Given the description of an element on the screen output the (x, y) to click on. 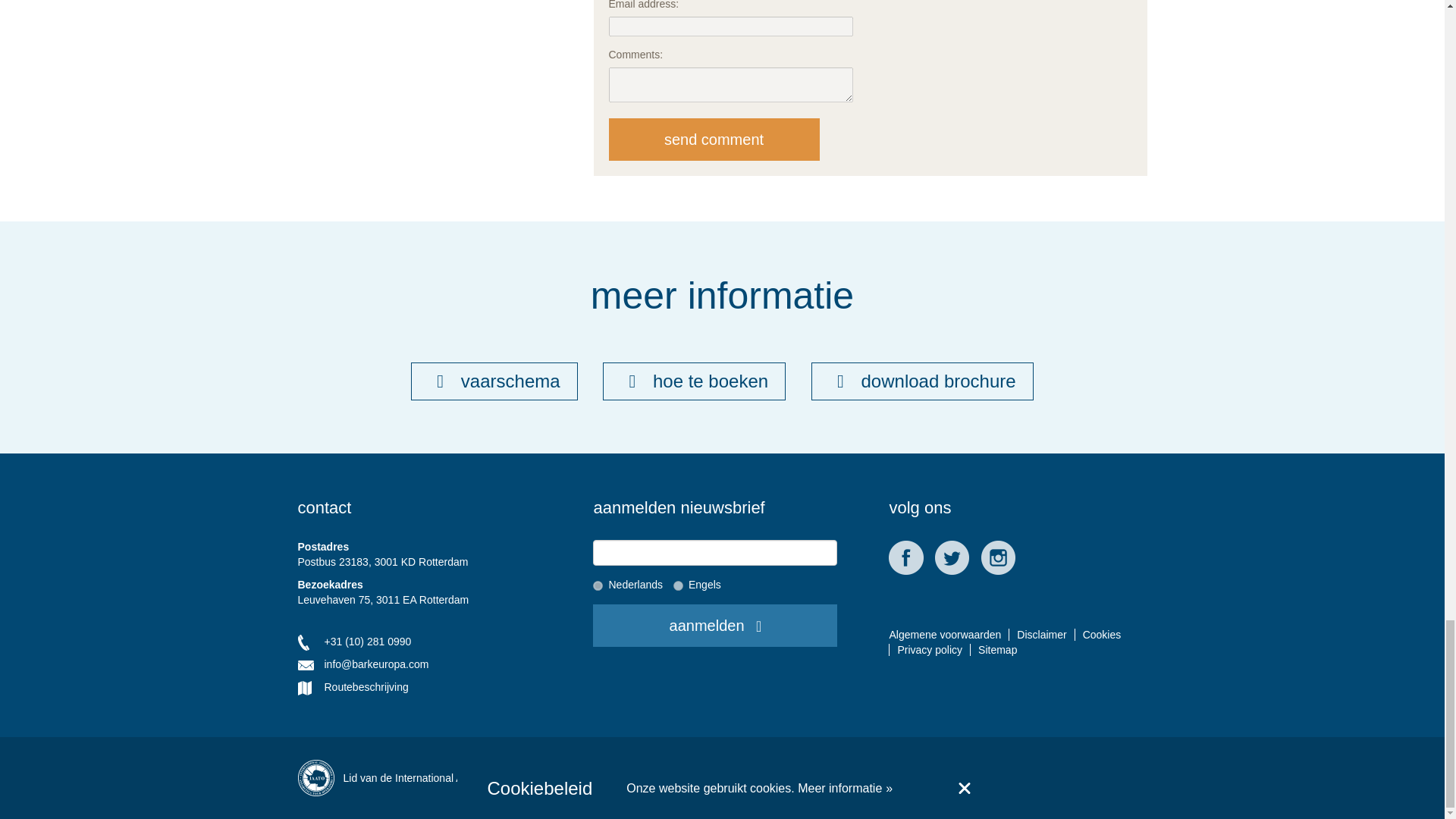
Nederlands (597, 585)
English (677, 585)
